Given the description of an element on the screen output the (x, y) to click on. 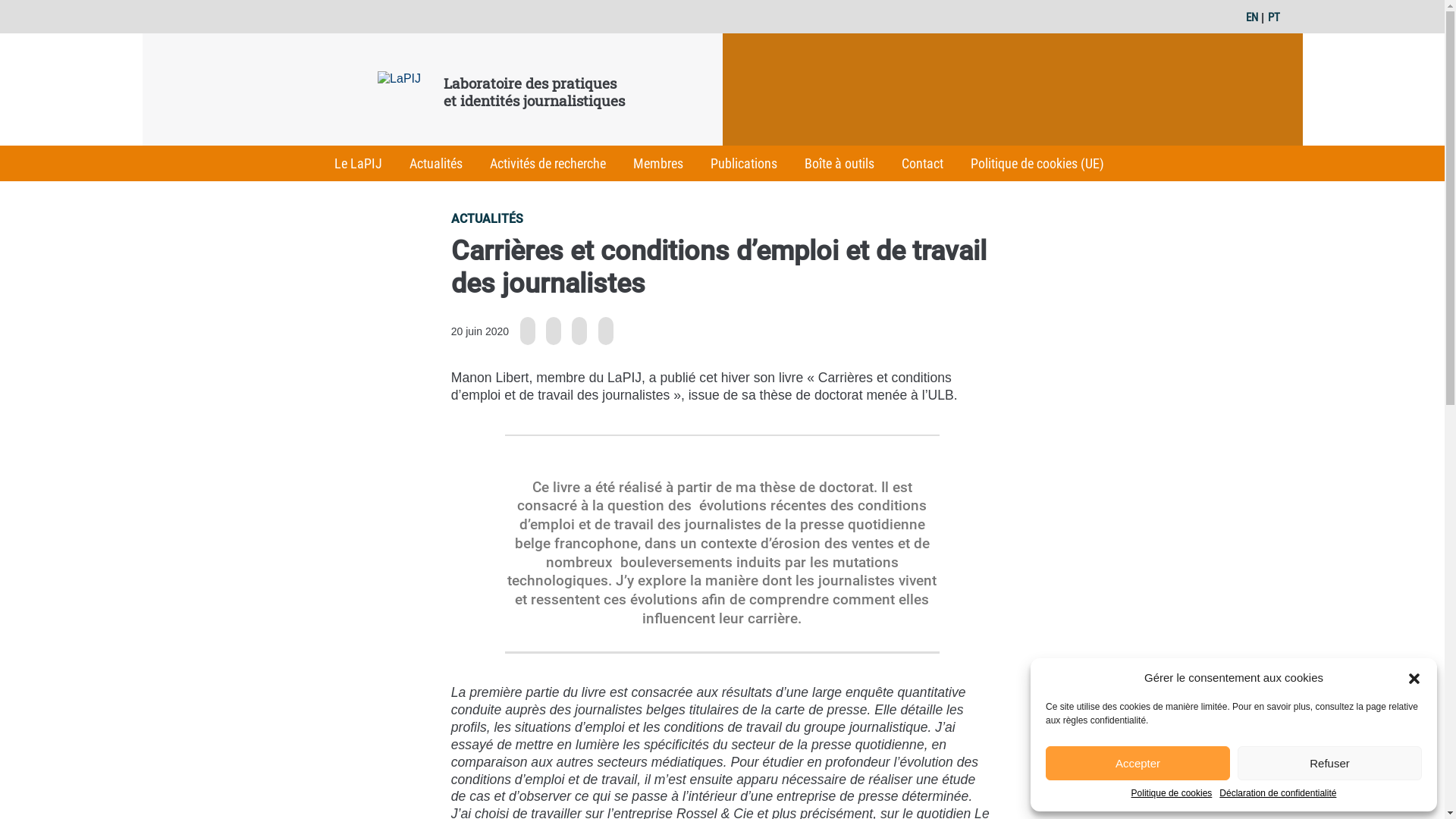
Politique de cookies Element type: text (1171, 793)
Partager sur LinkedIn Element type: hover (578, 330)
Refuser Element type: text (1329, 763)
PT Element type: text (1273, 17)
EN Element type: text (1251, 17)
Partager sur Twitter Element type: hover (553, 330)
Contact Element type: text (922, 163)
Accepter Element type: text (1137, 763)
Imprimer cette page Element type: hover (605, 330)
Membres Element type: text (658, 163)
Le LaPIJ Element type: text (358, 163)
Publications Element type: text (743, 163)
Politique de cookies (UE) Element type: text (1037, 163)
